Given the description of an element on the screen output the (x, y) to click on. 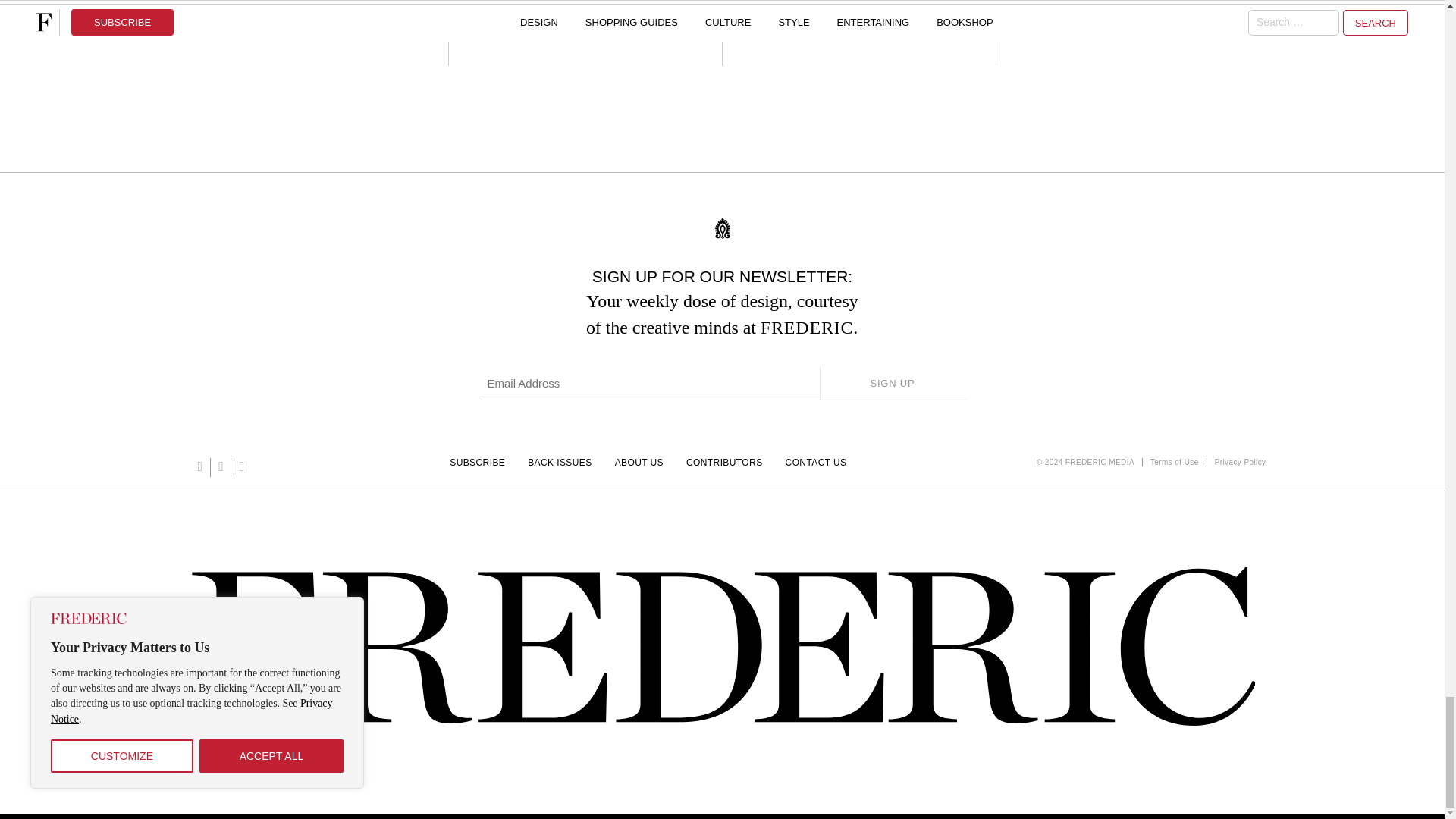
How Designers Command a Room With Stylish Center Tables (585, 6)
